Given the description of an element on the screen output the (x, y) to click on. 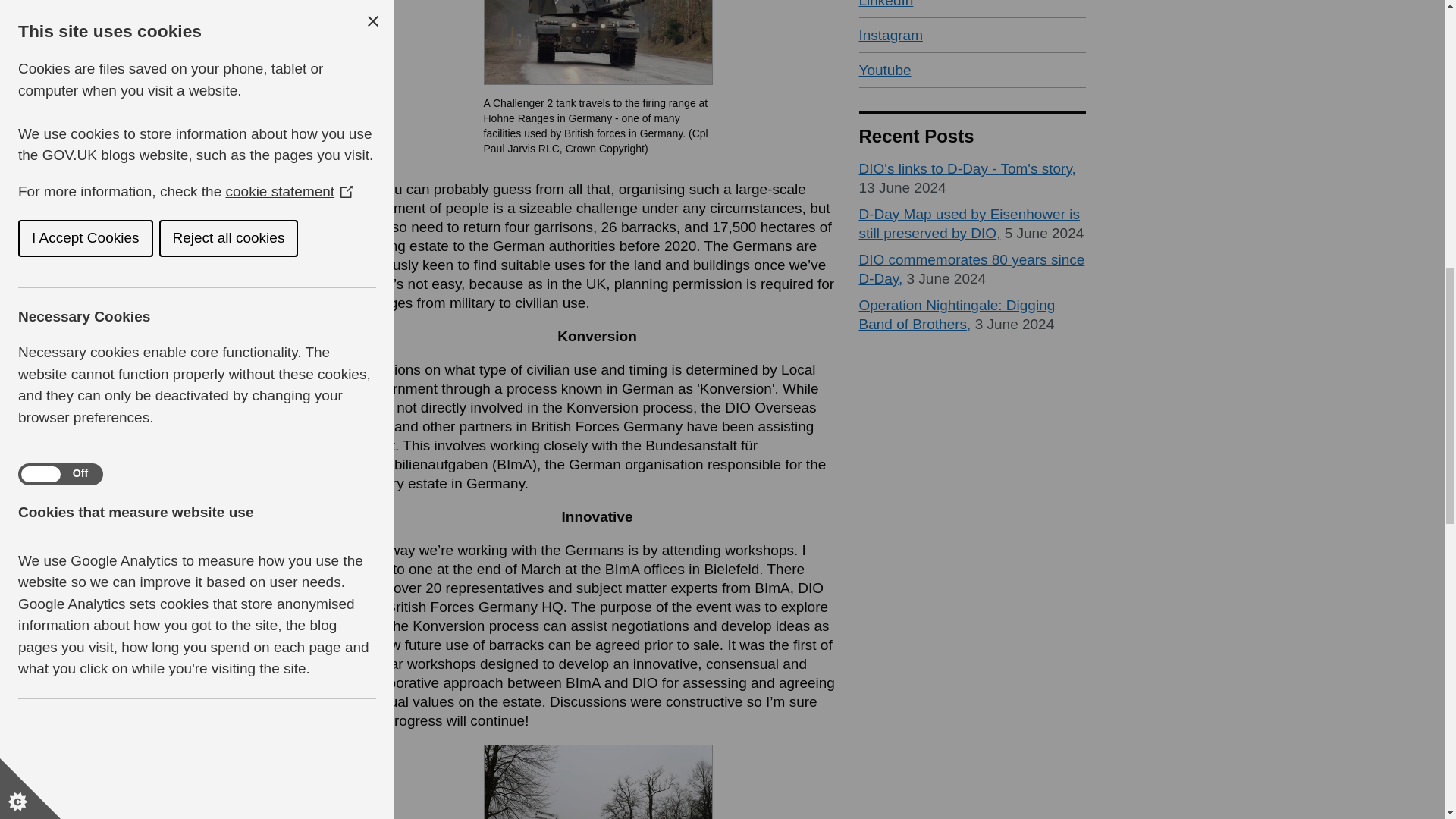
Instagram (972, 35)
LinkedIn (972, 9)
DIO's links to D-Day - Tom's story (967, 168)
Youtube (972, 70)
